Given the description of an element on the screen output the (x, y) to click on. 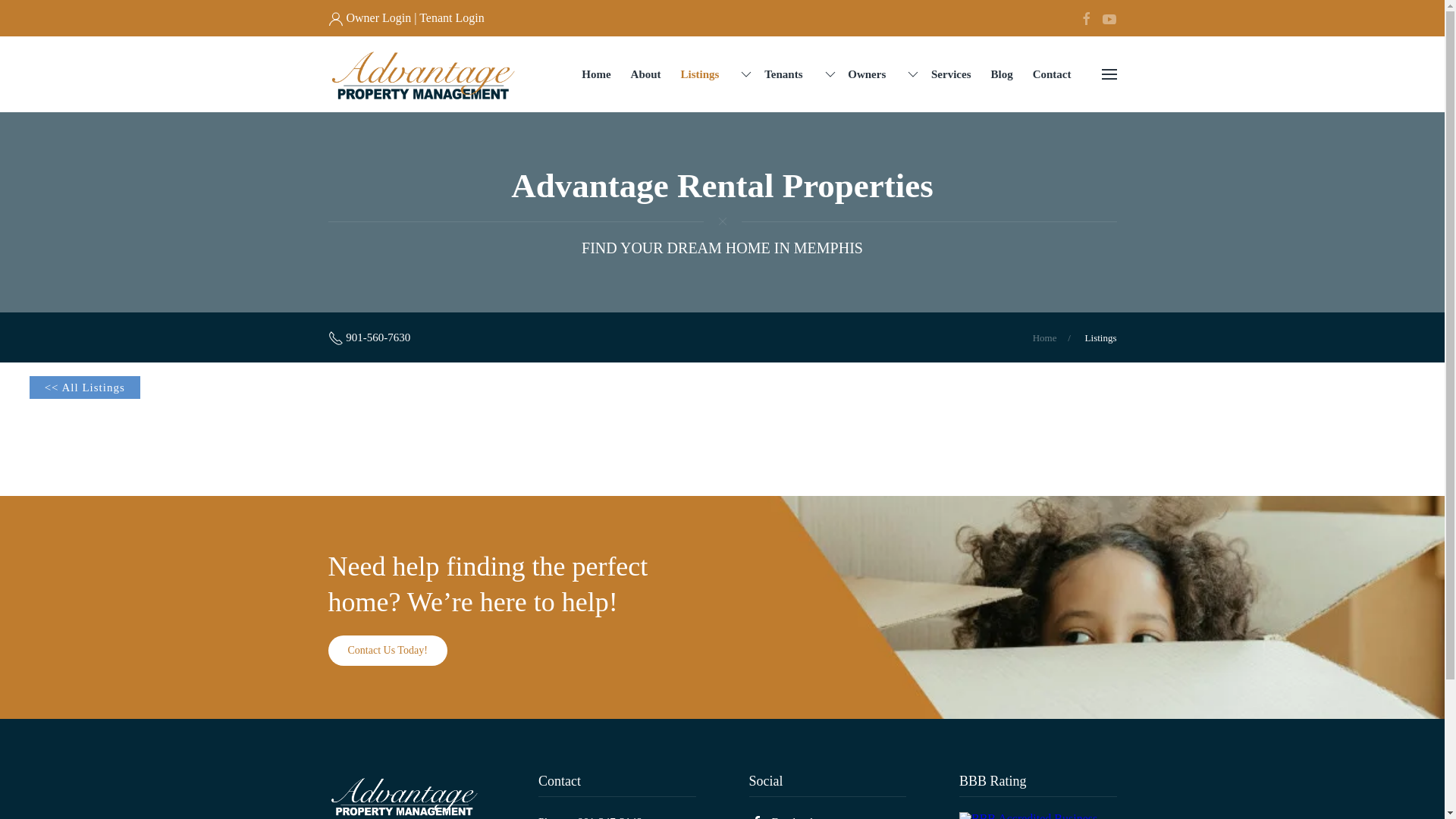
Tenant Login (451, 17)
Owner Login (378, 17)
